Given the description of an element on the screen output the (x, y) to click on. 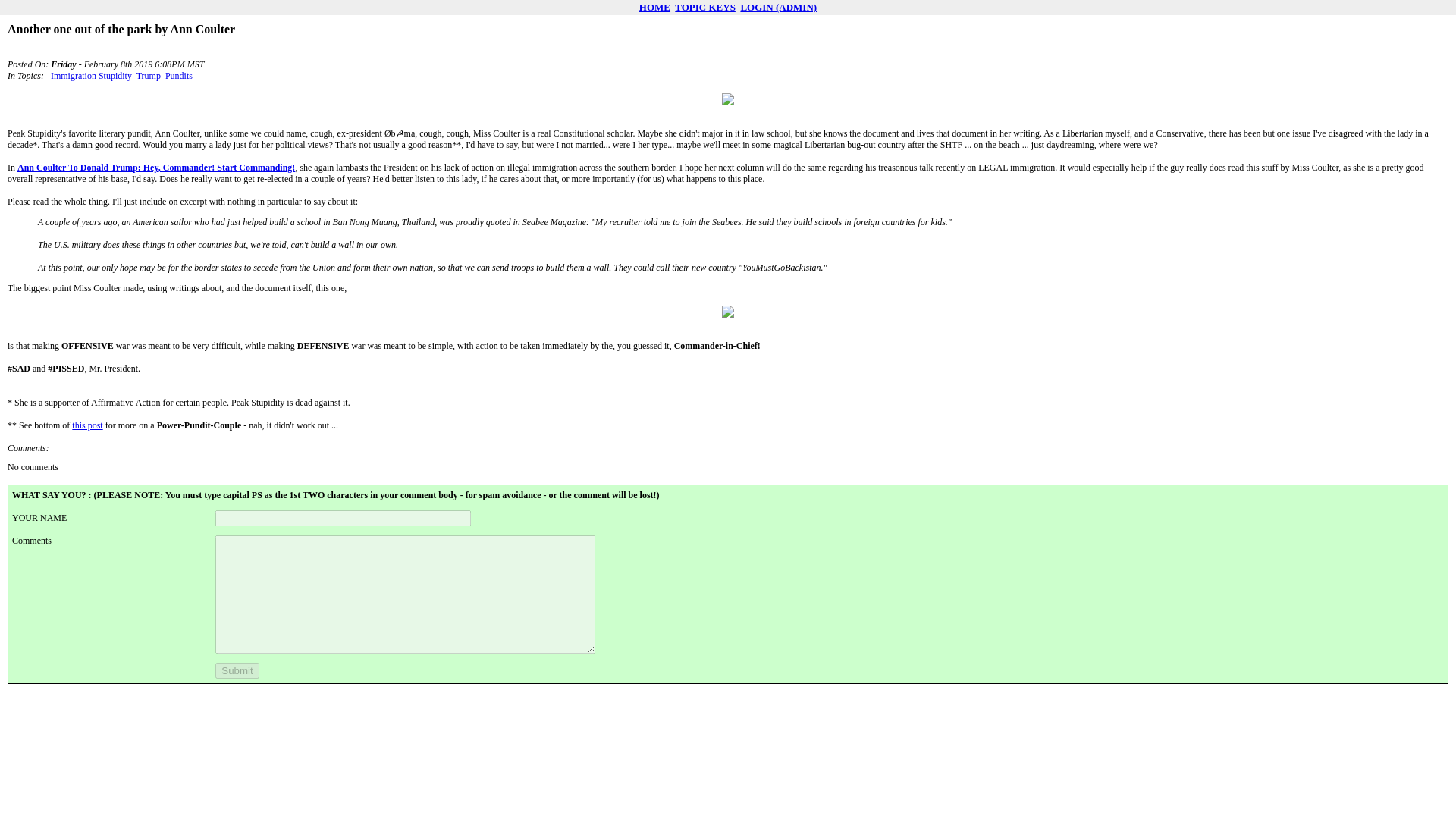
 Pundits (177, 75)
HOME (654, 7)
Submit (237, 670)
 Immigration Stupidity (90, 75)
this post (86, 425)
Submit (237, 670)
 Trump (146, 75)
TOPIC KEYS (705, 7)
